Given the description of an element on the screen output the (x, y) to click on. 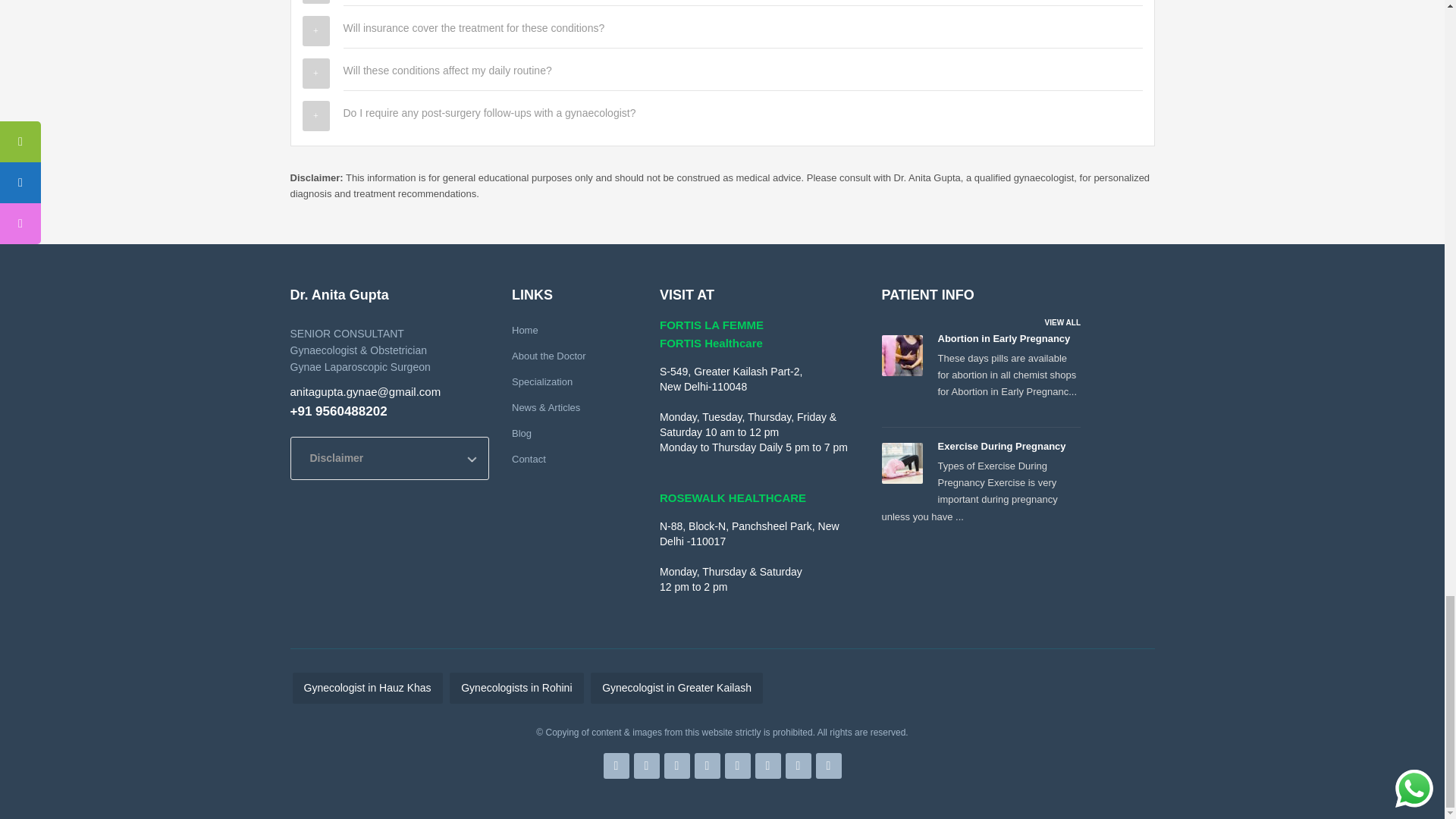
Taking Pills for Abortion (900, 354)
Exercise during pregnancy (900, 463)
